Given the description of an element on the screen output the (x, y) to click on. 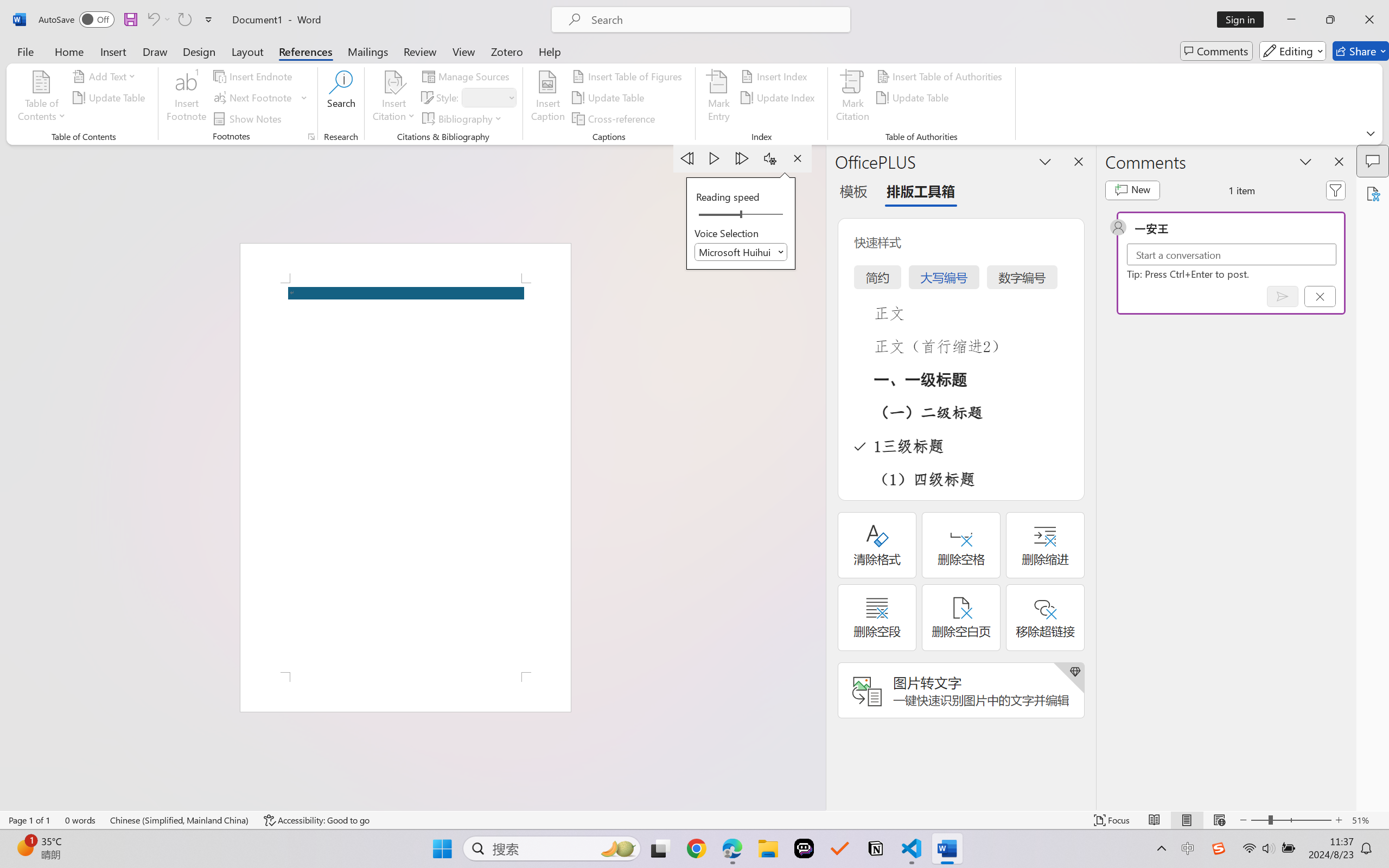
Repeat Accessibility Checker (184, 19)
Insert Endnote (253, 75)
Next Footnote (260, 97)
Show Notes (248, 118)
Cancel (1320, 296)
Language Chinese (Simplified, Mainland China) (179, 819)
